Given the description of an element on the screen output the (x, y) to click on. 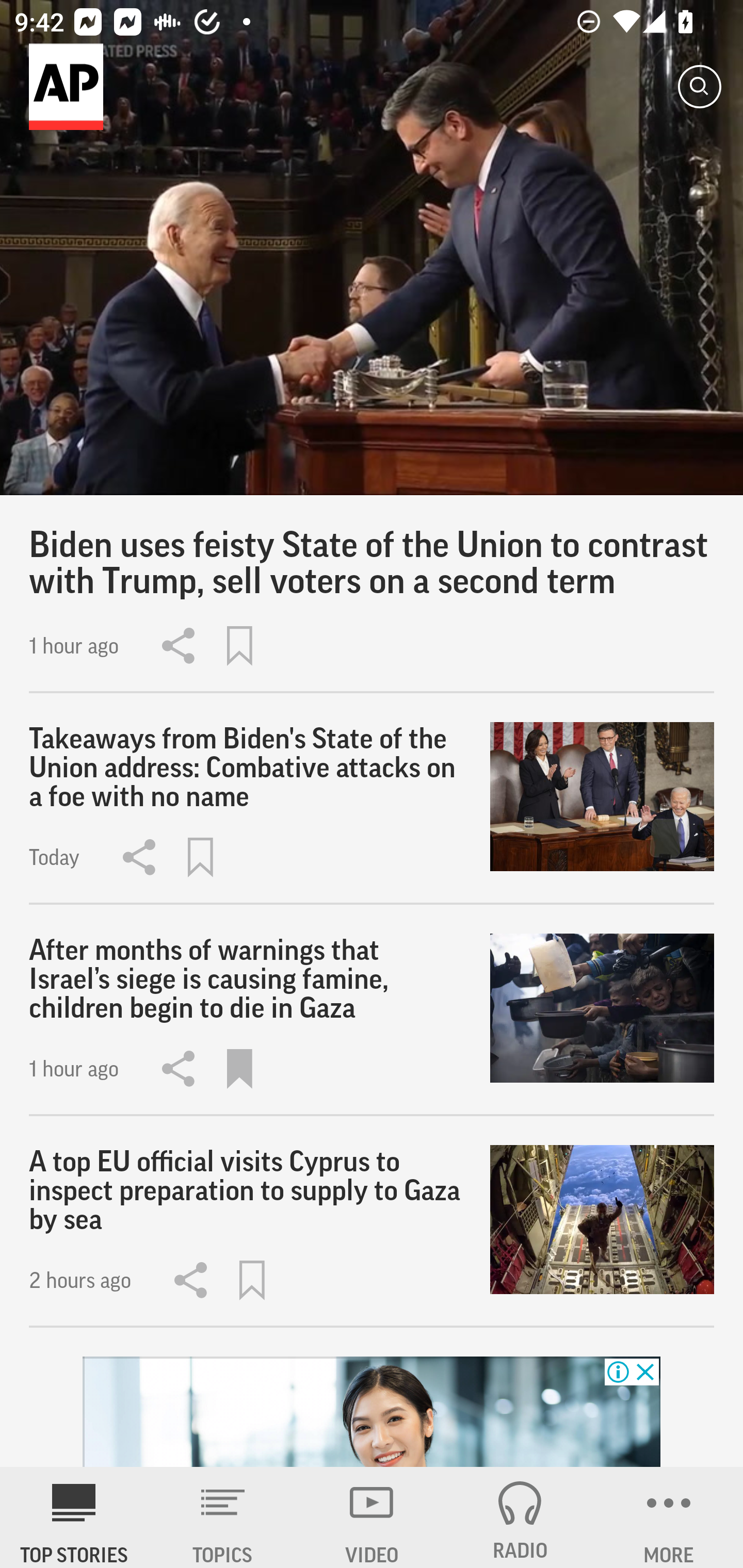
AP News TOP STORIES (74, 1517)
TOPICS (222, 1517)
VIDEO (371, 1517)
RADIO (519, 1517)
MORE (668, 1517)
